Given the description of an element on the screen output the (x, y) to click on. 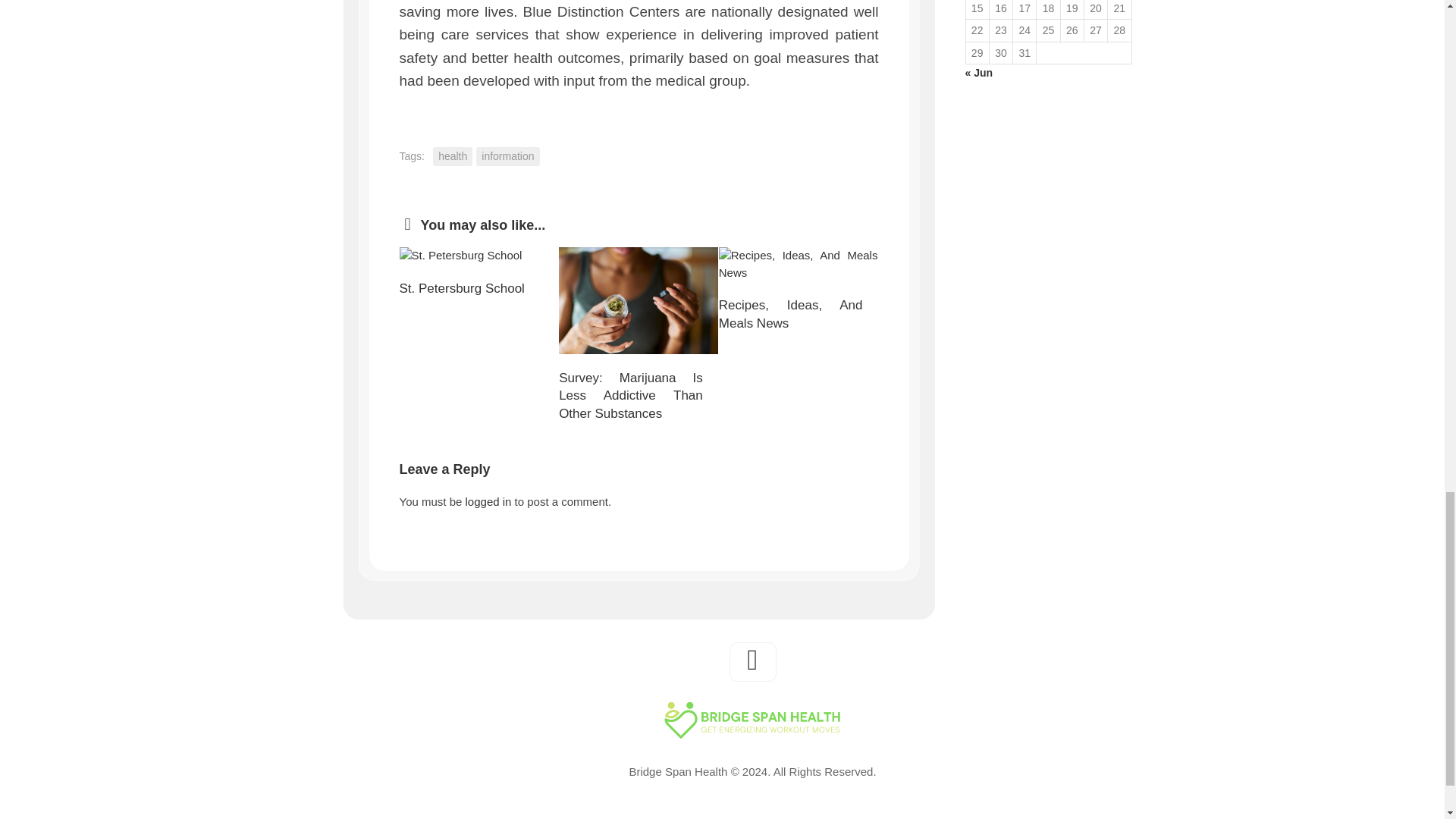
St. Petersburg School (477, 255)
Survey: Marijuana Is Less Addictive Than Other Substances (638, 299)
Recipes, Ideas, And Meals News (798, 264)
